Given the description of an element on the screen output the (x, y) to click on. 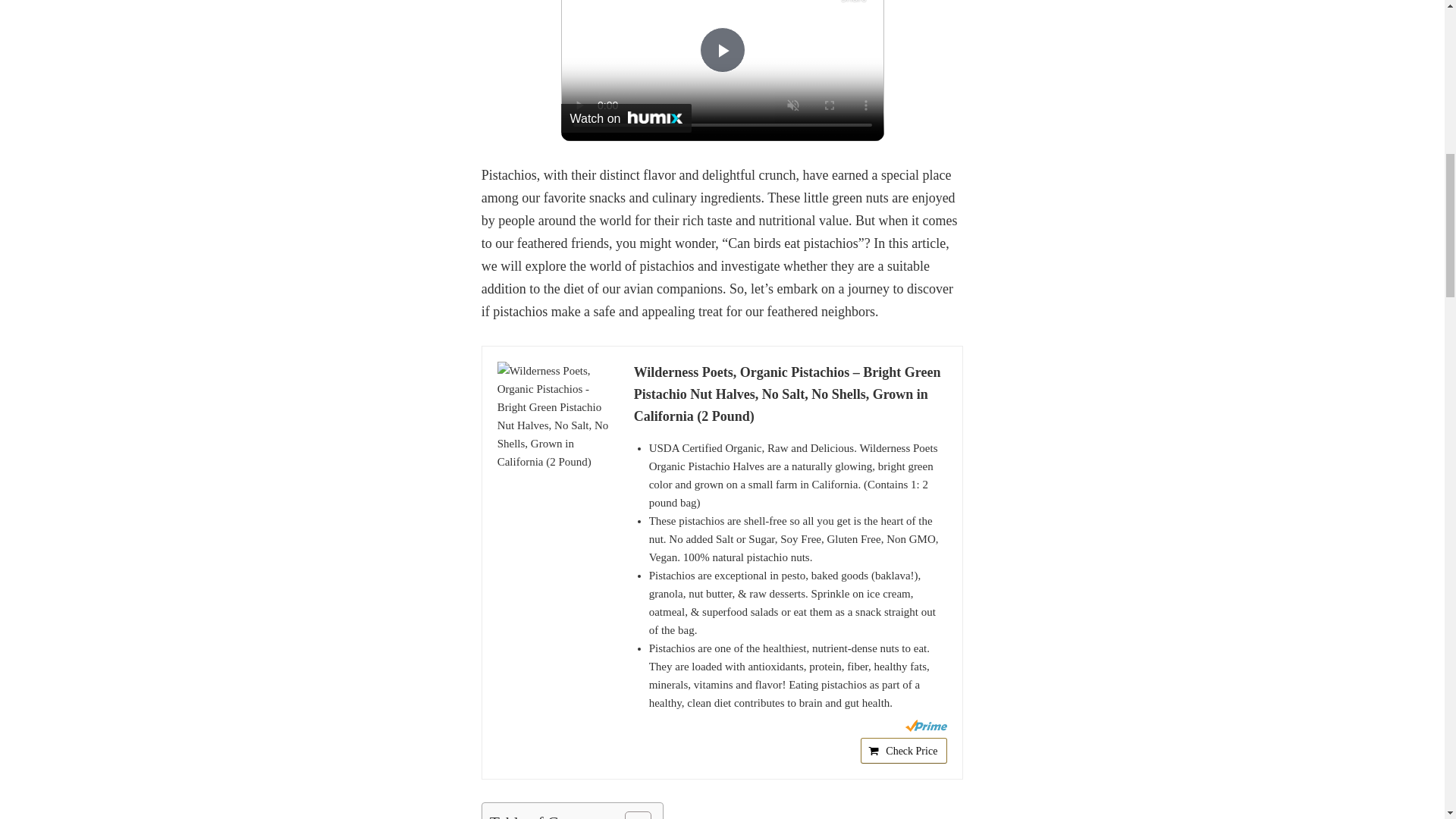
Watch on (625, 118)
Play Video (721, 49)
share (853, 4)
Check Price (903, 750)
Share (853, 4)
Play Video (721, 49)
Check Price (903, 750)
